Given the description of an element on the screen output the (x, y) to click on. 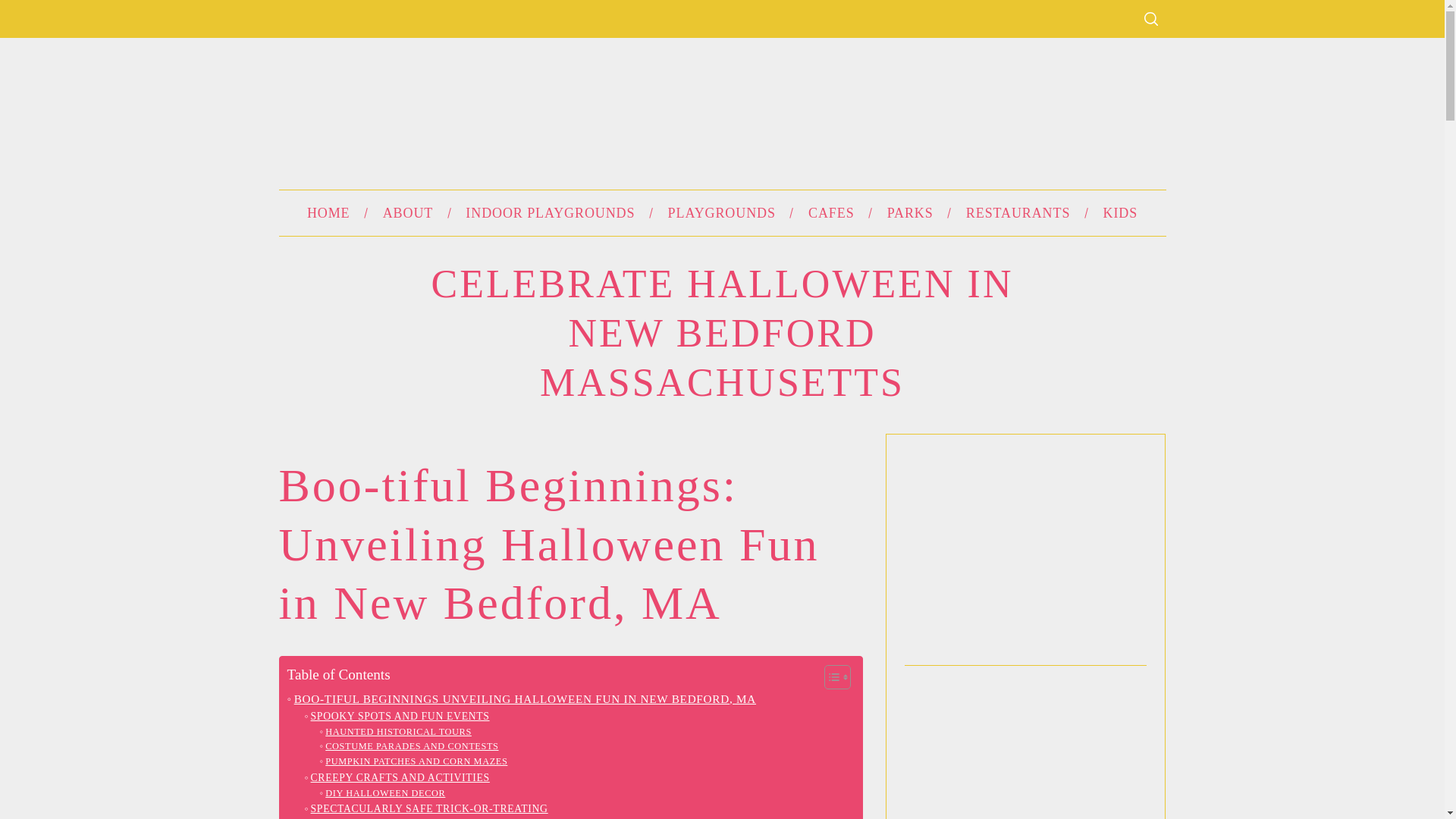
CREEPY CRAFTS AND ACTIVITIES (396, 777)
DIY HALLOWEEN DECOR (382, 793)
DIY Halloween Decor (382, 793)
Costume Parades and Contests (409, 746)
SPOOKY SPOTS AND FUN EVENTS (396, 716)
Creepy Crafts and Activities (396, 777)
HAUNTED HISTORICAL TOURS (395, 732)
PUMPKIN PATCHES AND CORN MAZES (414, 761)
COSTUME PARADES AND CONTESTS (409, 746)
SPECTACULARLY SAFE TRICK-OR-TREATING (425, 808)
